Given the description of an element on the screen output the (x, y) to click on. 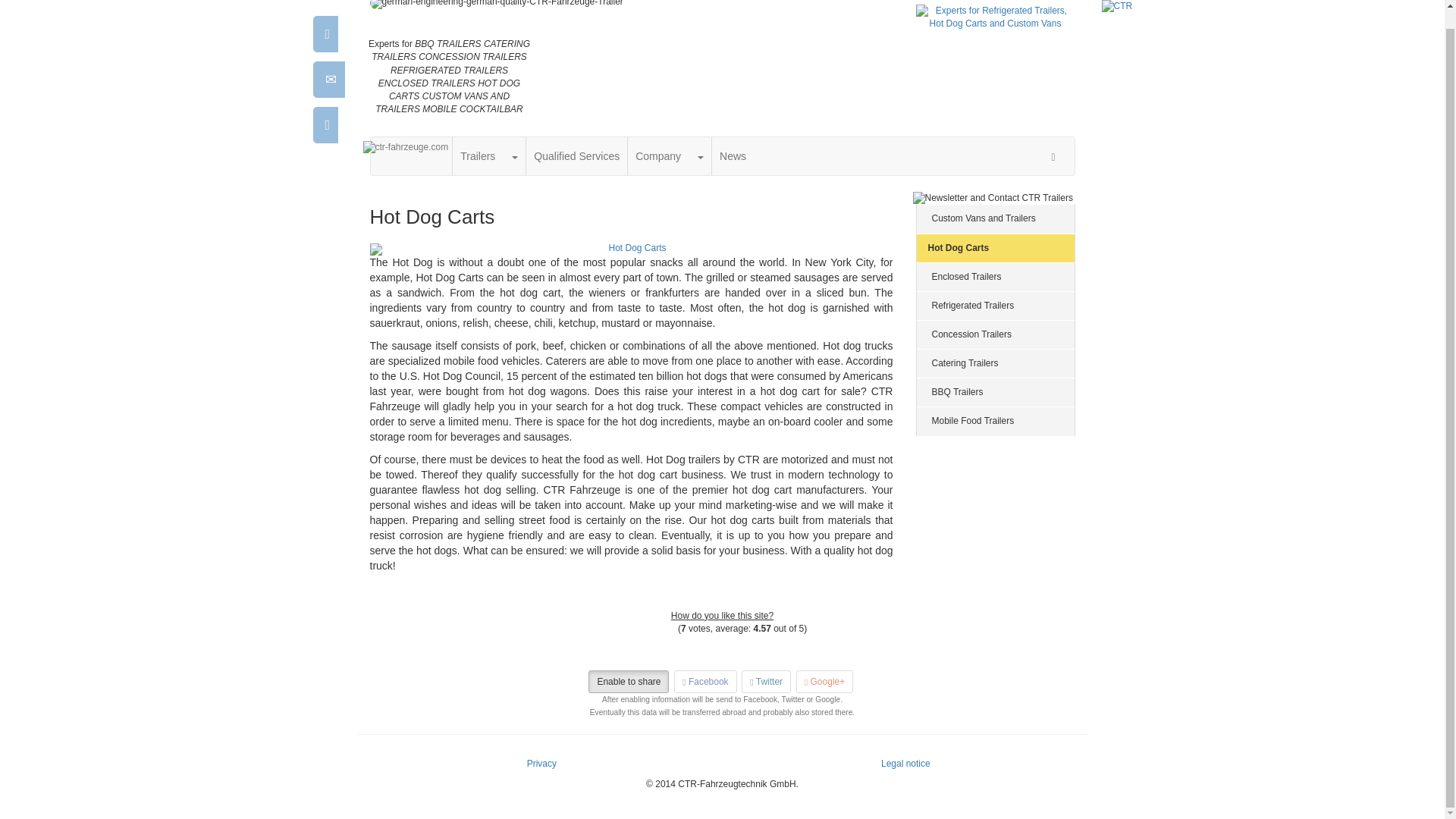
CTR on Facebook (535, 106)
Enclosed Trailers (995, 276)
CTR Trailer on Twitter (568, 106)
CTR on Google (601, 106)
CTR Trailer on Google (601, 106)
CTR Trailer on Facebook (535, 106)
german-engineering-german-quality-CTR-Fahrzeuge-Trailer (631, 4)
Custom Vans and Trailers (995, 218)
Company (657, 156)
ctr-fahrzeuge.com (405, 146)
News (732, 156)
Hot Dog Carts (995, 247)
Qualified Services (576, 156)
Contact (553, 61)
